Given the description of an element on the screen output the (x, y) to click on. 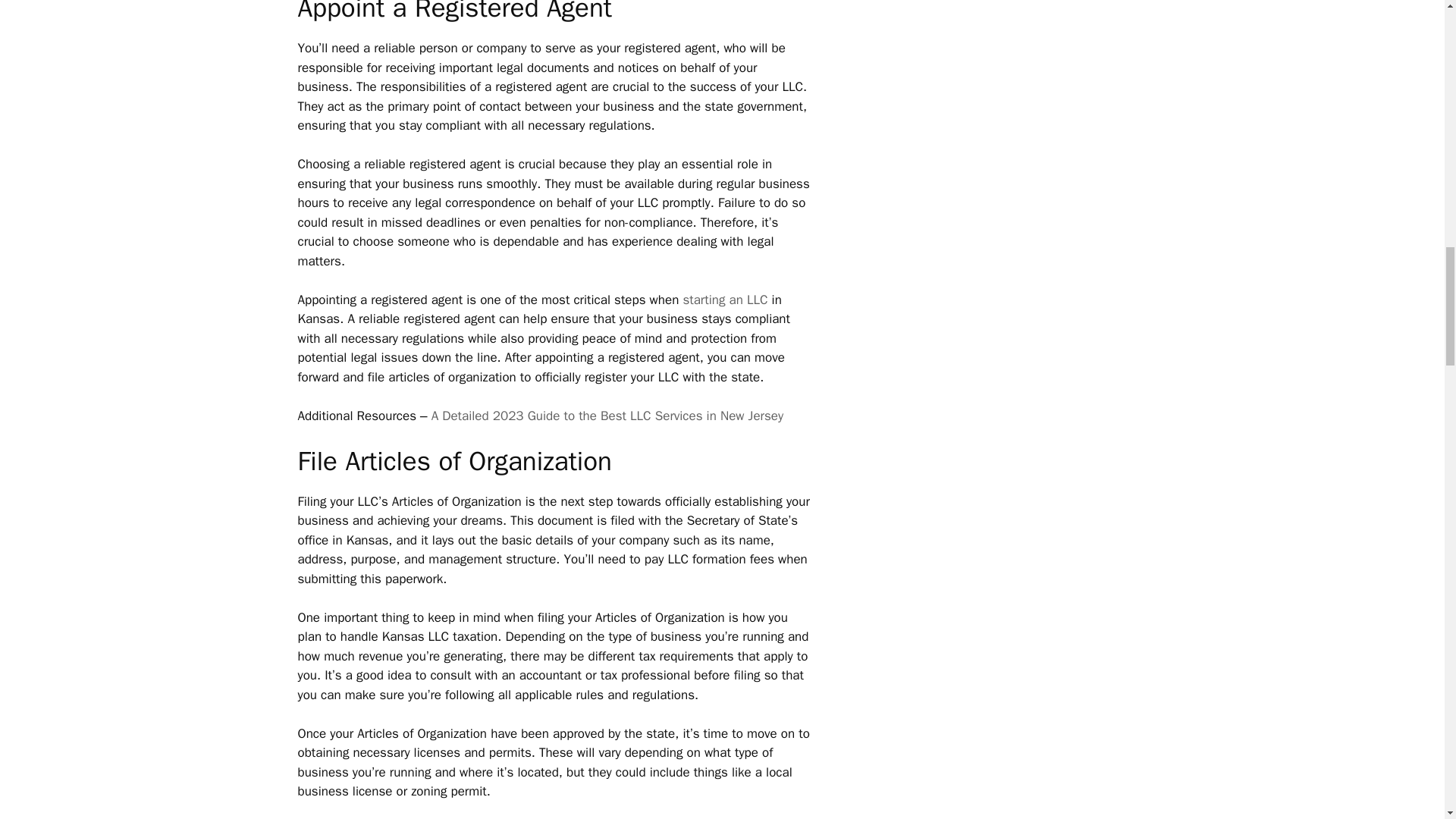
A Detailed 2023 Guide to the Best LLC Services in New Jersey (607, 415)
Get Started with an LLC in 2023: A Comprehensive Guide (724, 299)
starting an LLC (724, 299)
